Given the description of an element on the screen output the (x, y) to click on. 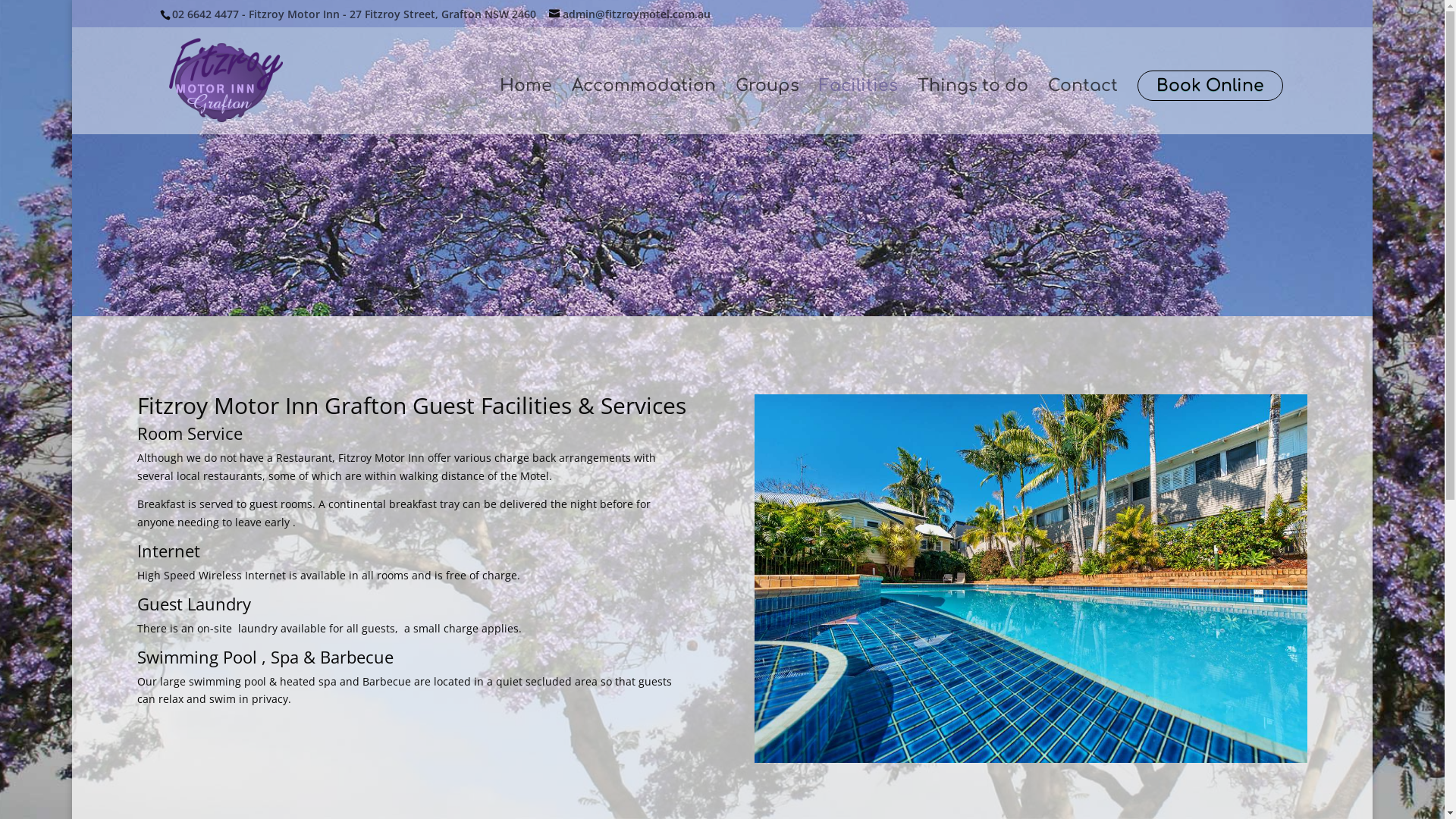
Groups Element type: text (767, 107)
02 6642 4477 Element type: text (205, 13)
Contact Element type: text (1082, 107)
Things to do Element type: text (972, 107)
Accommodation Element type: text (643, 107)
Home Element type: text (525, 107)
Book Online Element type: text (1210, 85)
Facilities Element type: text (858, 107)
_FITZROY MOTOR INN 0137 Element type: hover (1030, 578)
admin@fitzroymotel.com.au Element type: text (629, 13)
